Given the description of an element on the screen output the (x, y) to click on. 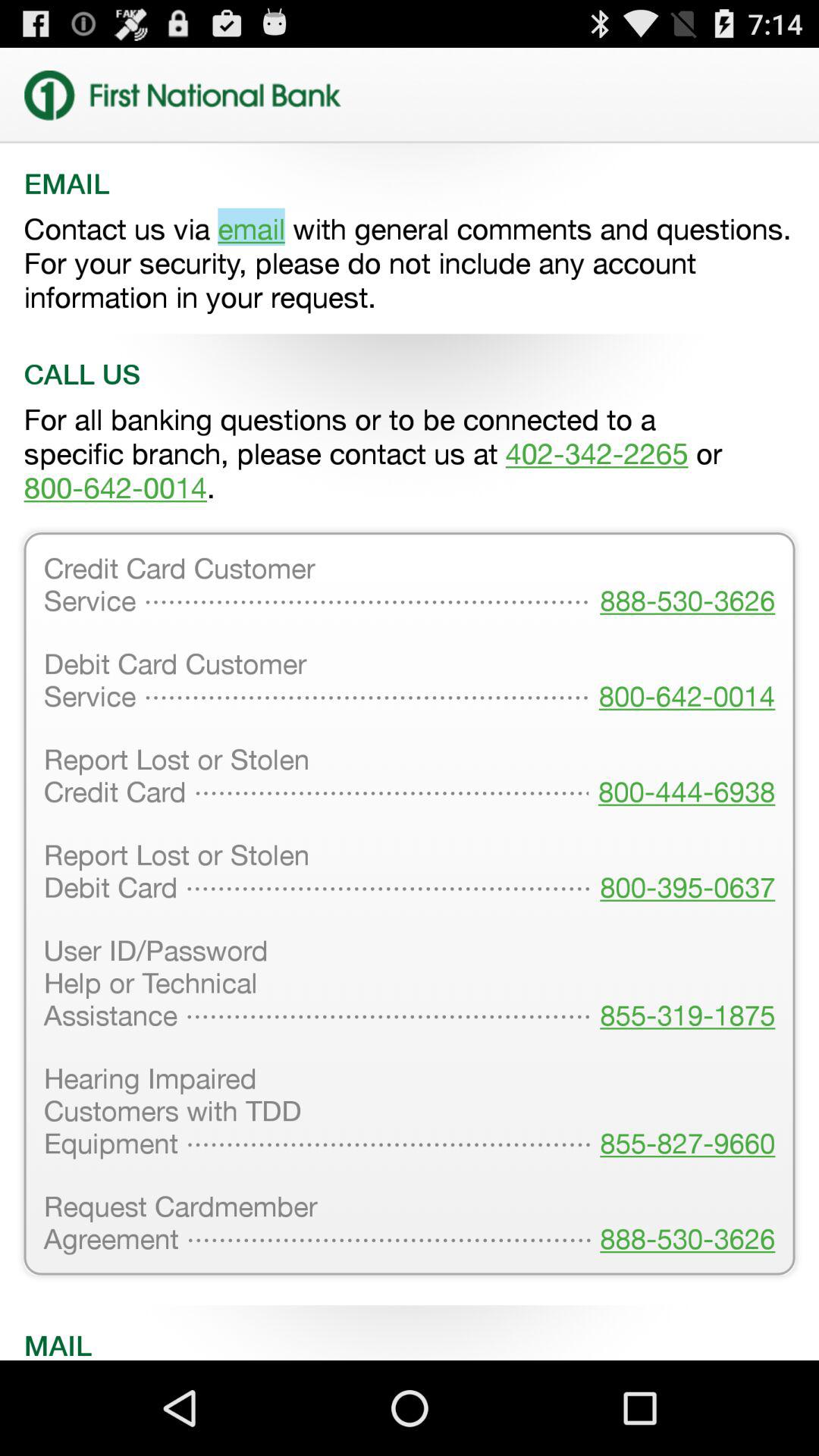
press the for all banking item (409, 453)
